Given the description of an element on the screen output the (x, y) to click on. 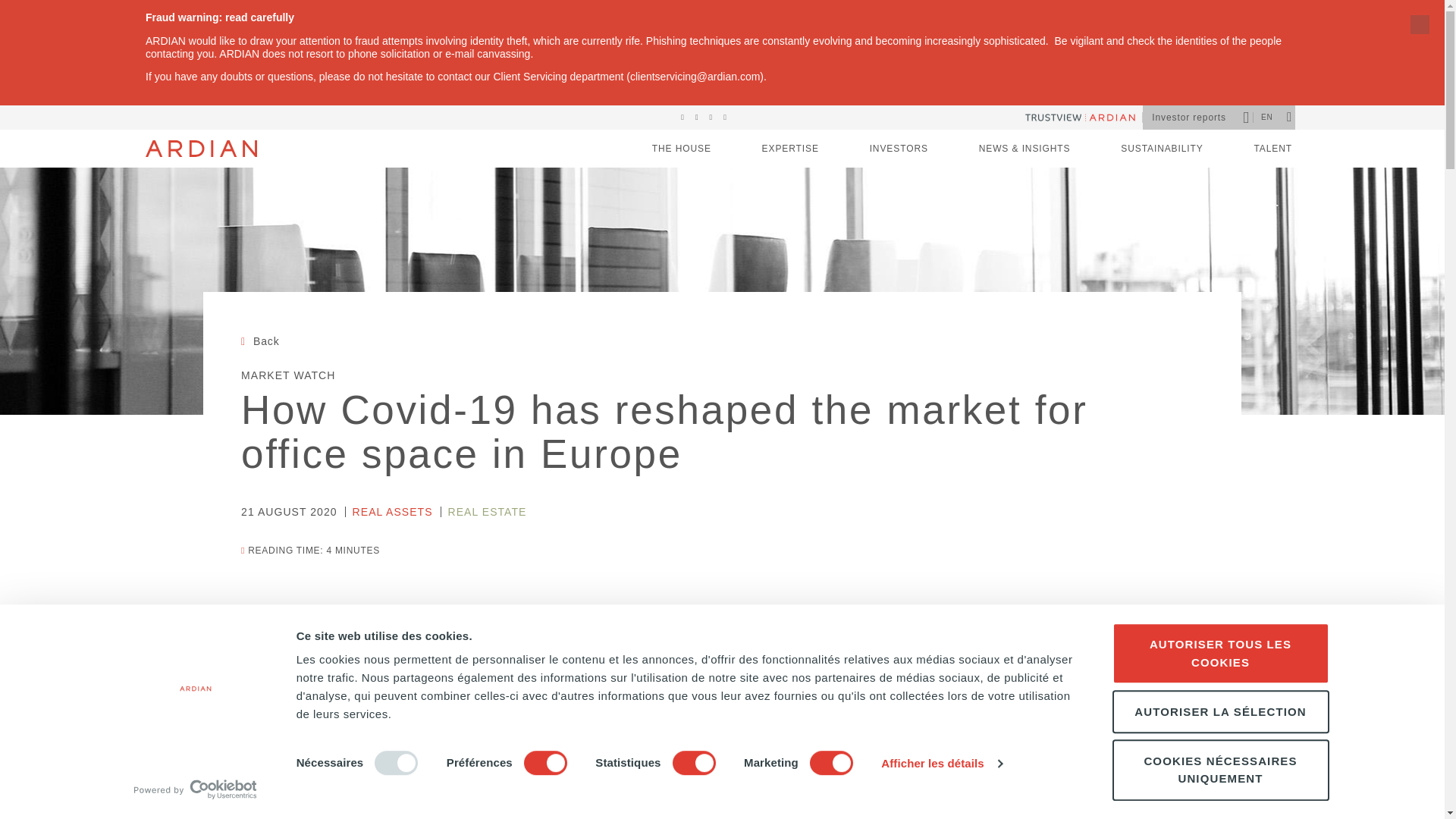
A world-leading private markets specialist. (789, 148)
Our vision for Sustainable Finance in private markets. (1161, 148)
Updates and thinking from the Ardian desks worldwide. (1024, 148)
Home (201, 148)
A global private investment house with European roots. (681, 148)
We build trusting, long-term partnerships. (898, 148)
